Given the description of an element on the screen output the (x, y) to click on. 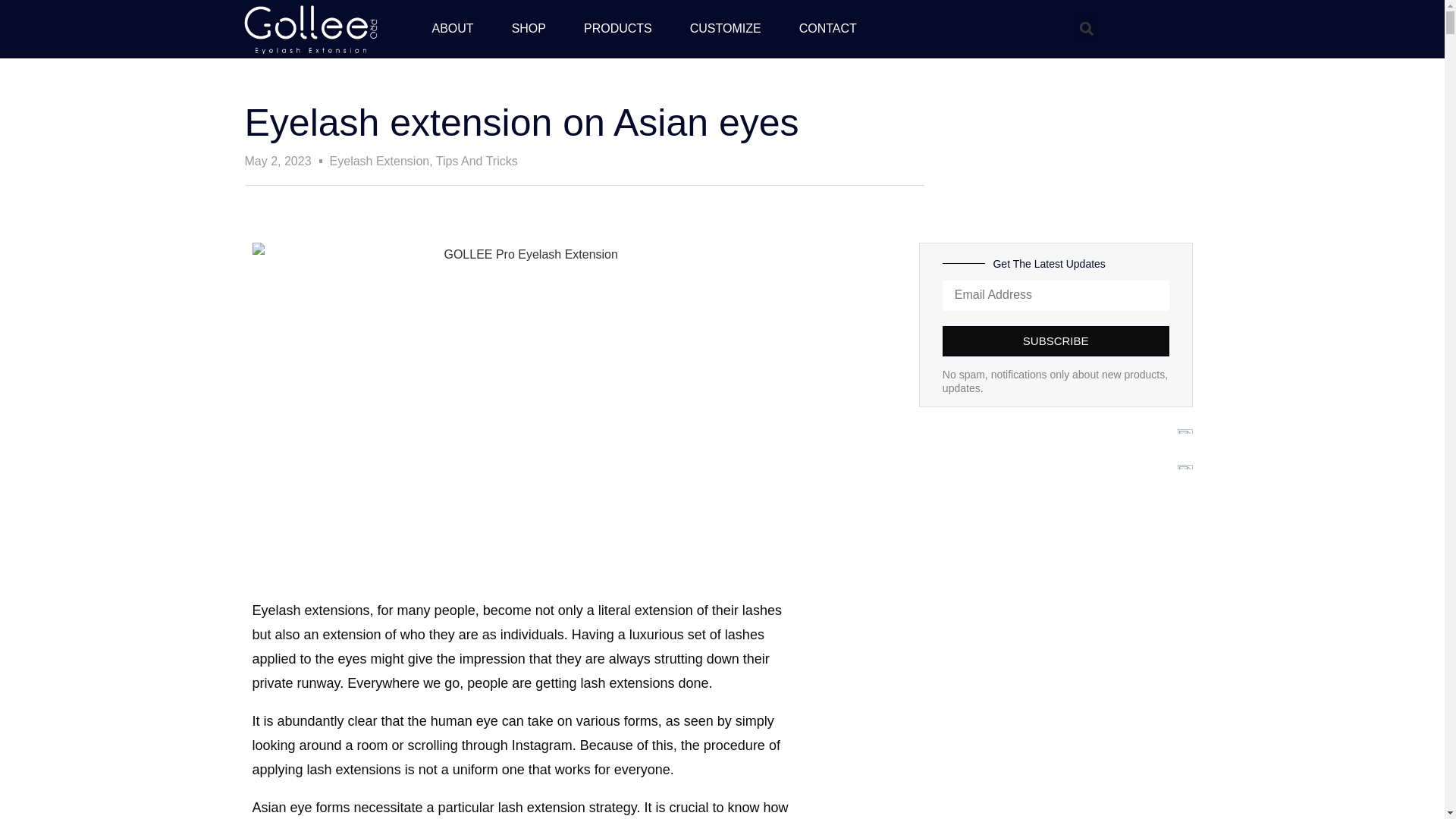
CUSTOMIZE (725, 28)
SHOP (528, 28)
ABOUT (452, 28)
PRODUCTS (617, 28)
